Given the description of an element on the screen output the (x, y) to click on. 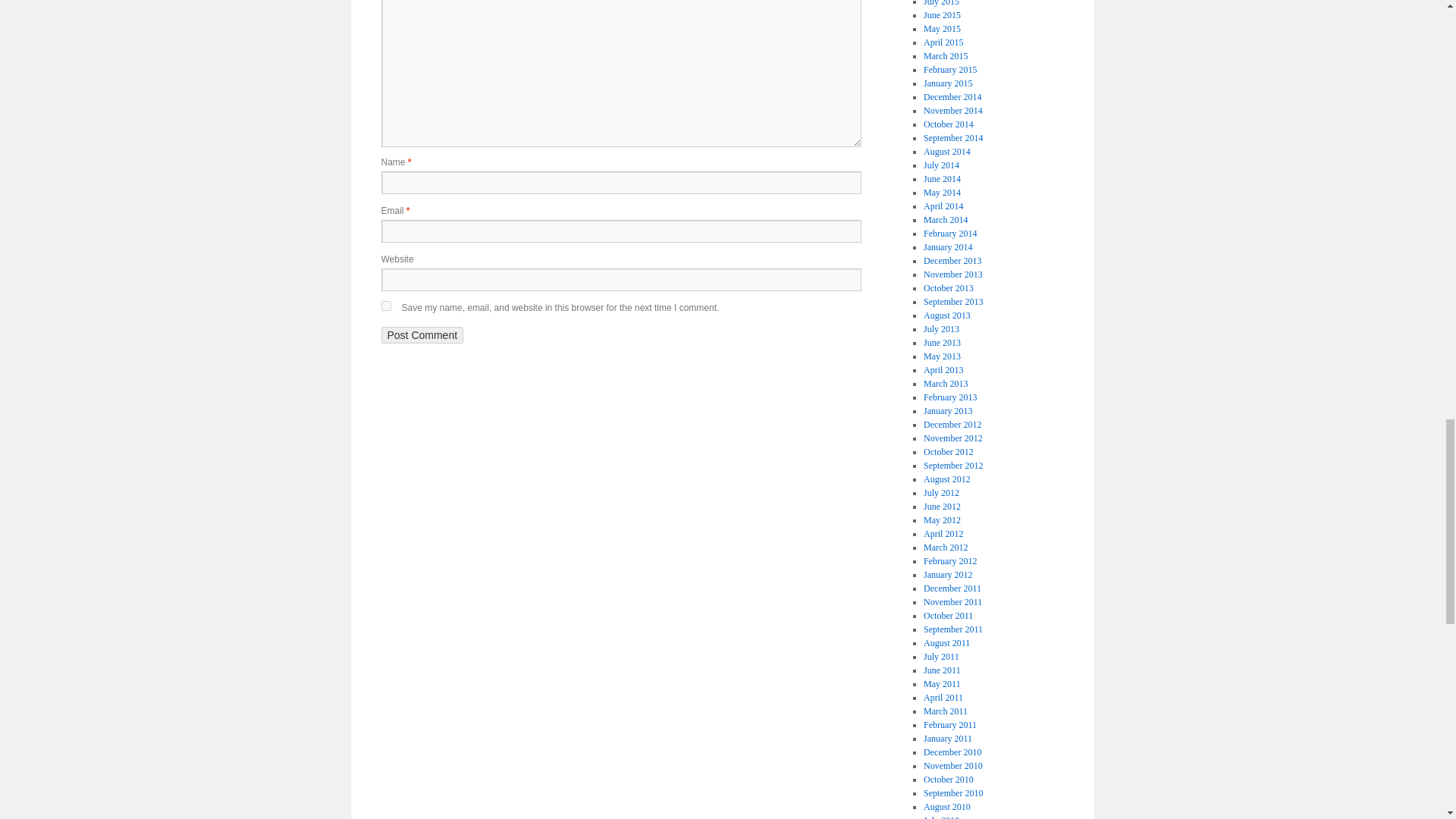
Post Comment (421, 334)
yes (385, 306)
Post Comment (421, 334)
